Given the description of an element on the screen output the (x, y) to click on. 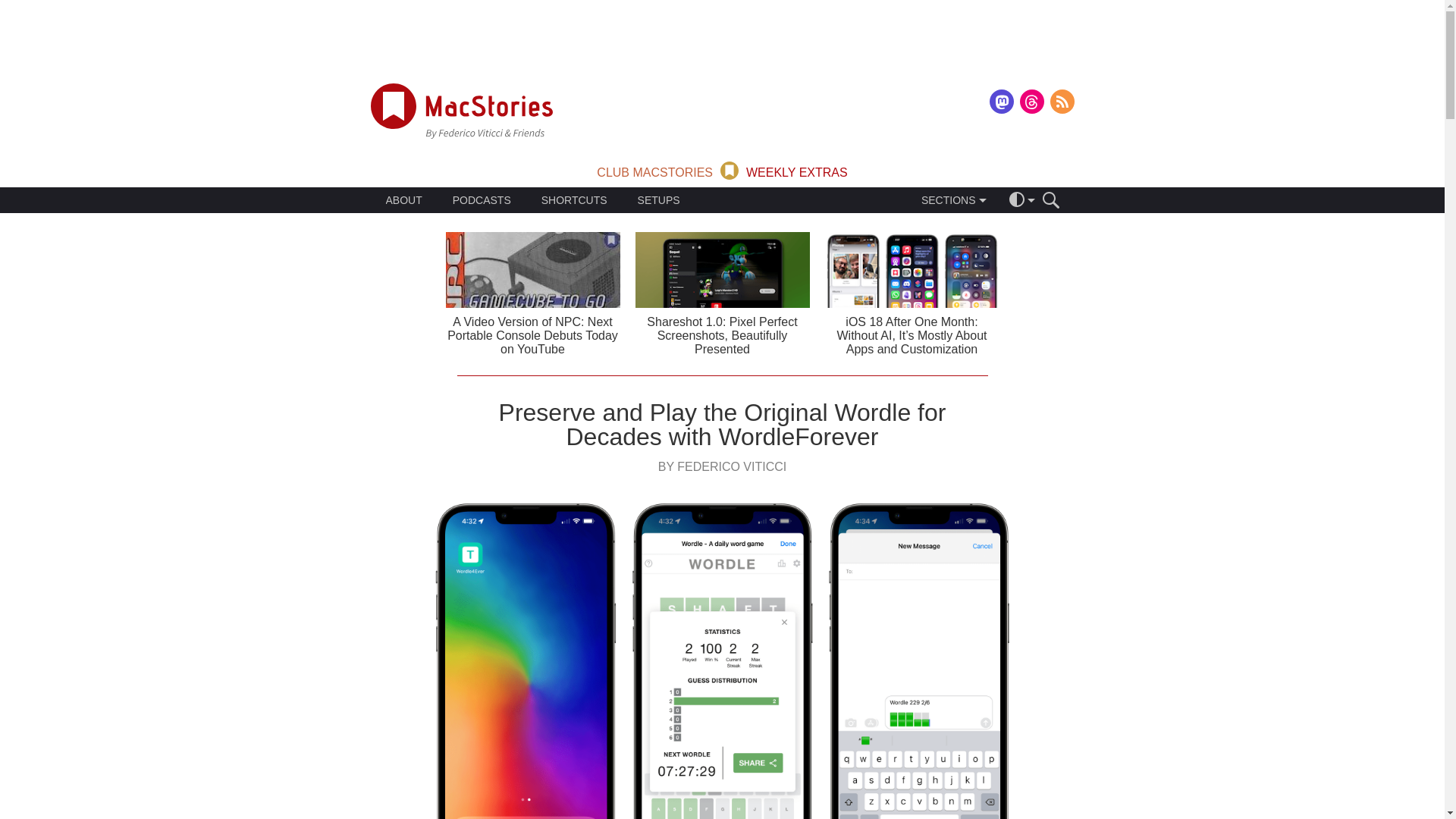
SETUPS (658, 199)
ABOUT (403, 199)
BY FEDERICO VITICCI (722, 466)
SHORTCUTS (574, 199)
CLUB MACSTORIESWEEKLY EXTRAS (721, 169)
PODCASTS (481, 199)
